Given the description of an element on the screen output the (x, y) to click on. 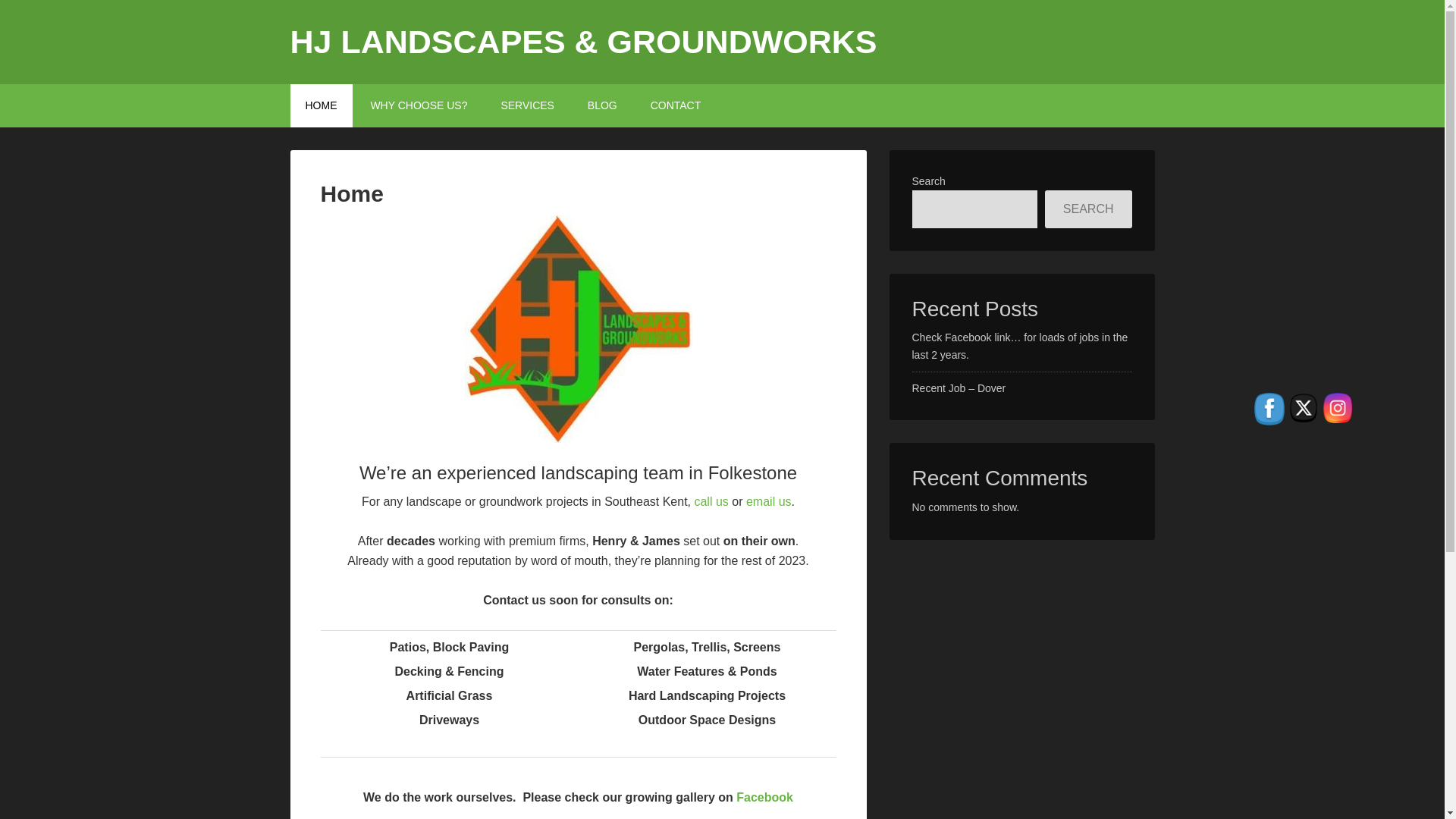
BLOG (601, 105)
WHY CHOOSE US? (418, 105)
Facebook (1268, 409)
Facebook (764, 797)
SERVICES (526, 105)
email us (768, 501)
SEARCH (1088, 209)
CONTACT (675, 105)
call us (711, 501)
Twitter (1303, 408)
